Given the description of an element on the screen output the (x, y) to click on. 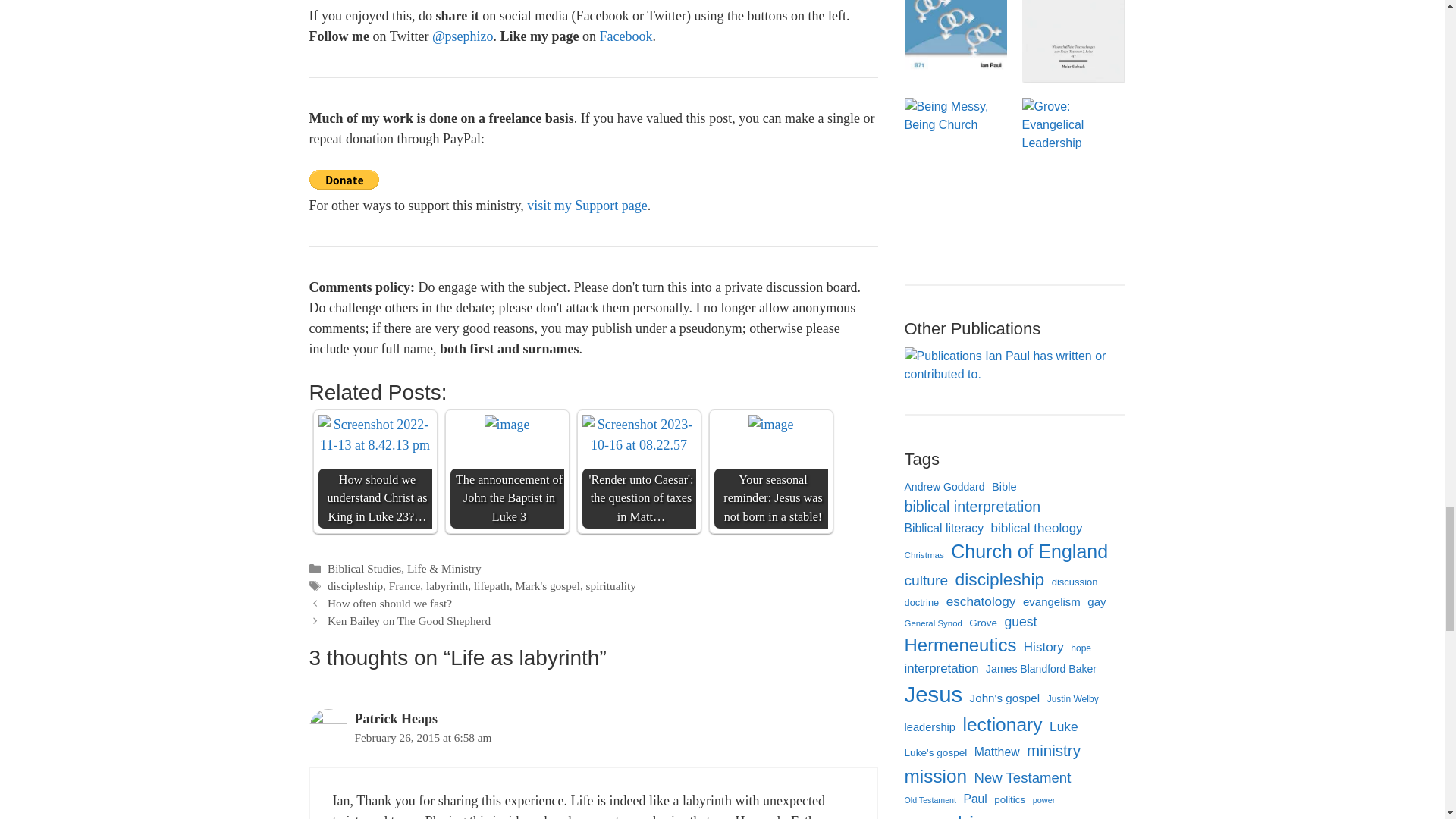
Facebook (625, 36)
visit my Support page (587, 205)
Your seasonal reminder: Jesus was not born in a stable! (770, 424)
The announcement of John the Baptist in Luke 3 (506, 424)
